Given the description of an element on the screen output the (x, y) to click on. 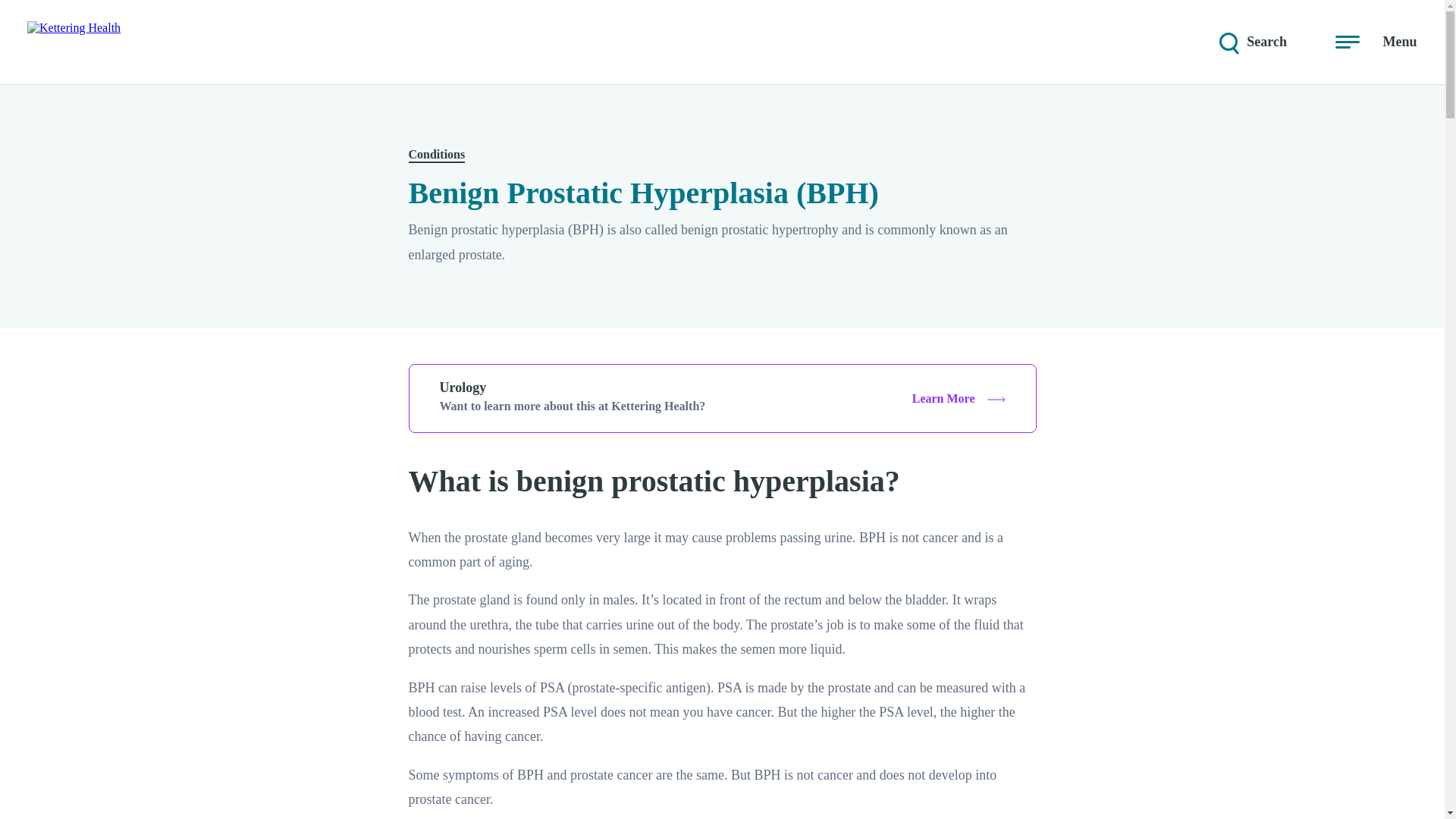
Search (1251, 42)
Menu (1375, 42)
